Given the description of an element on the screen output the (x, y) to click on. 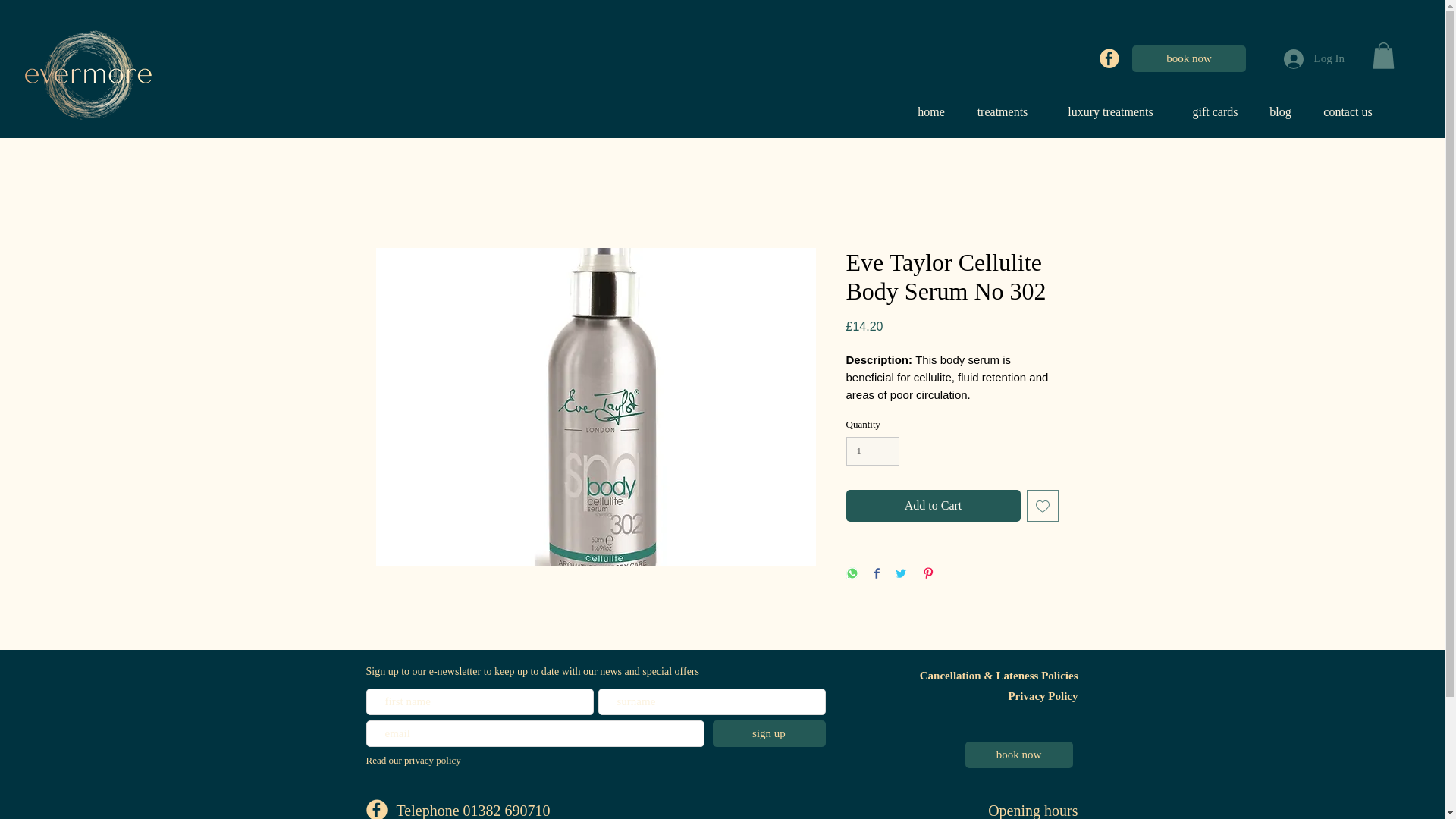
Log In (1313, 58)
1 (872, 451)
gift cards (1214, 112)
Privacy Policy (1042, 695)
Add to Cart (932, 505)
treatments (1001, 112)
book now (1189, 58)
sign up (769, 733)
luxury treatments (1110, 112)
book now (1017, 755)
